Given the description of an element on the screen output the (x, y) to click on. 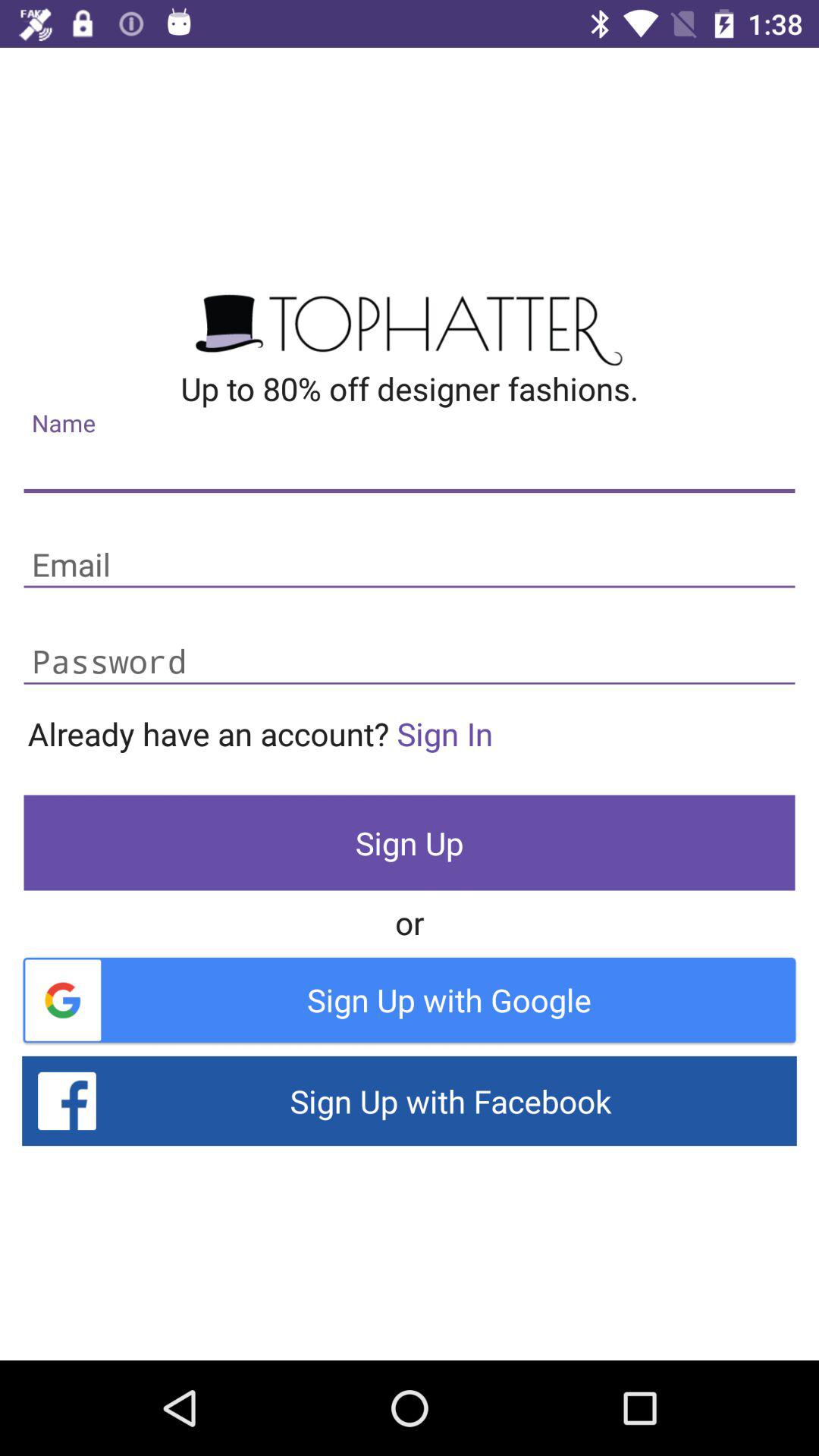
text box for entering mail id (409, 565)
